Given the description of an element on the screen output the (x, y) to click on. 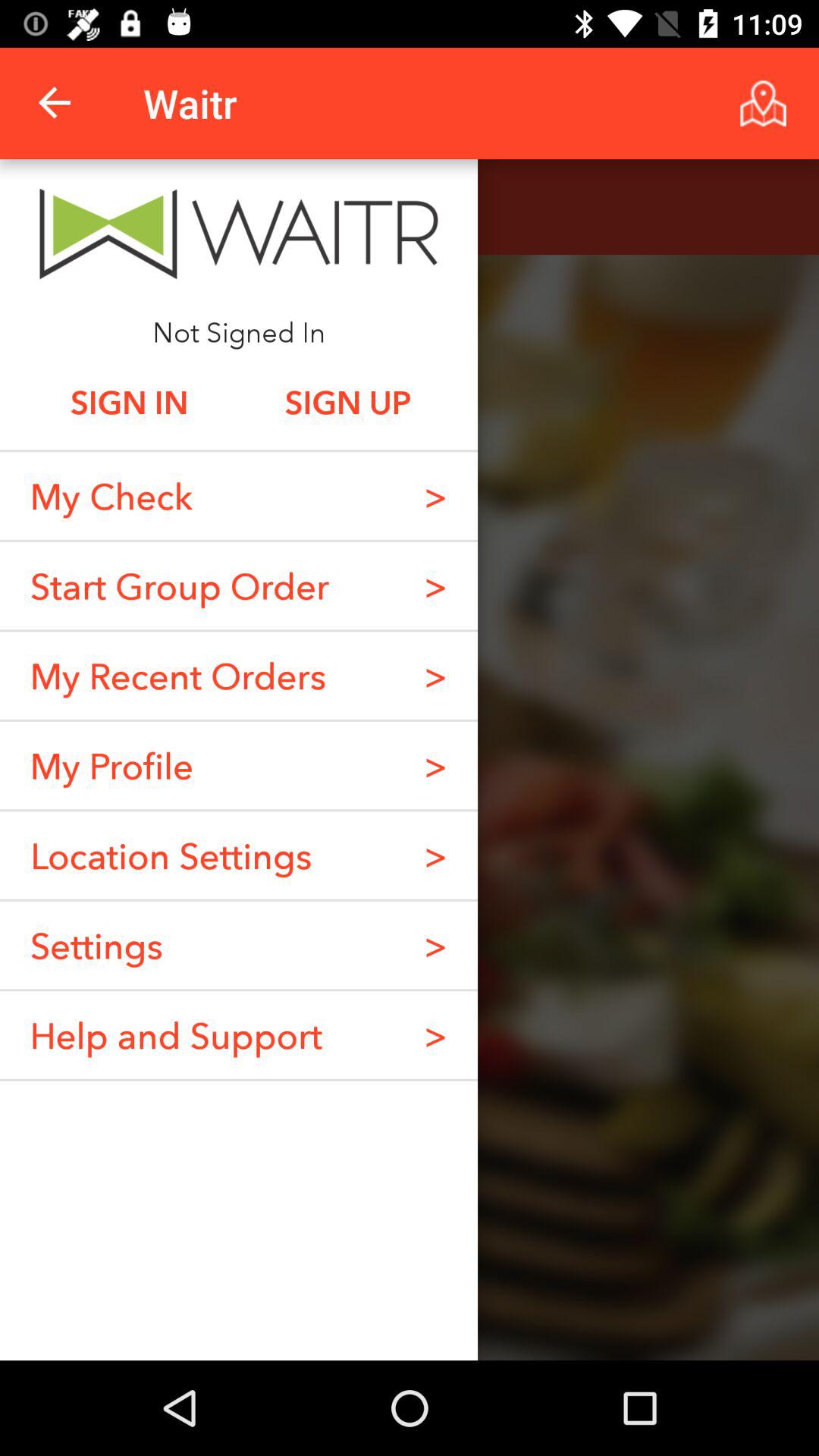
select the item below the > item (435, 945)
